Given the description of an element on the screen output the (x, y) to click on. 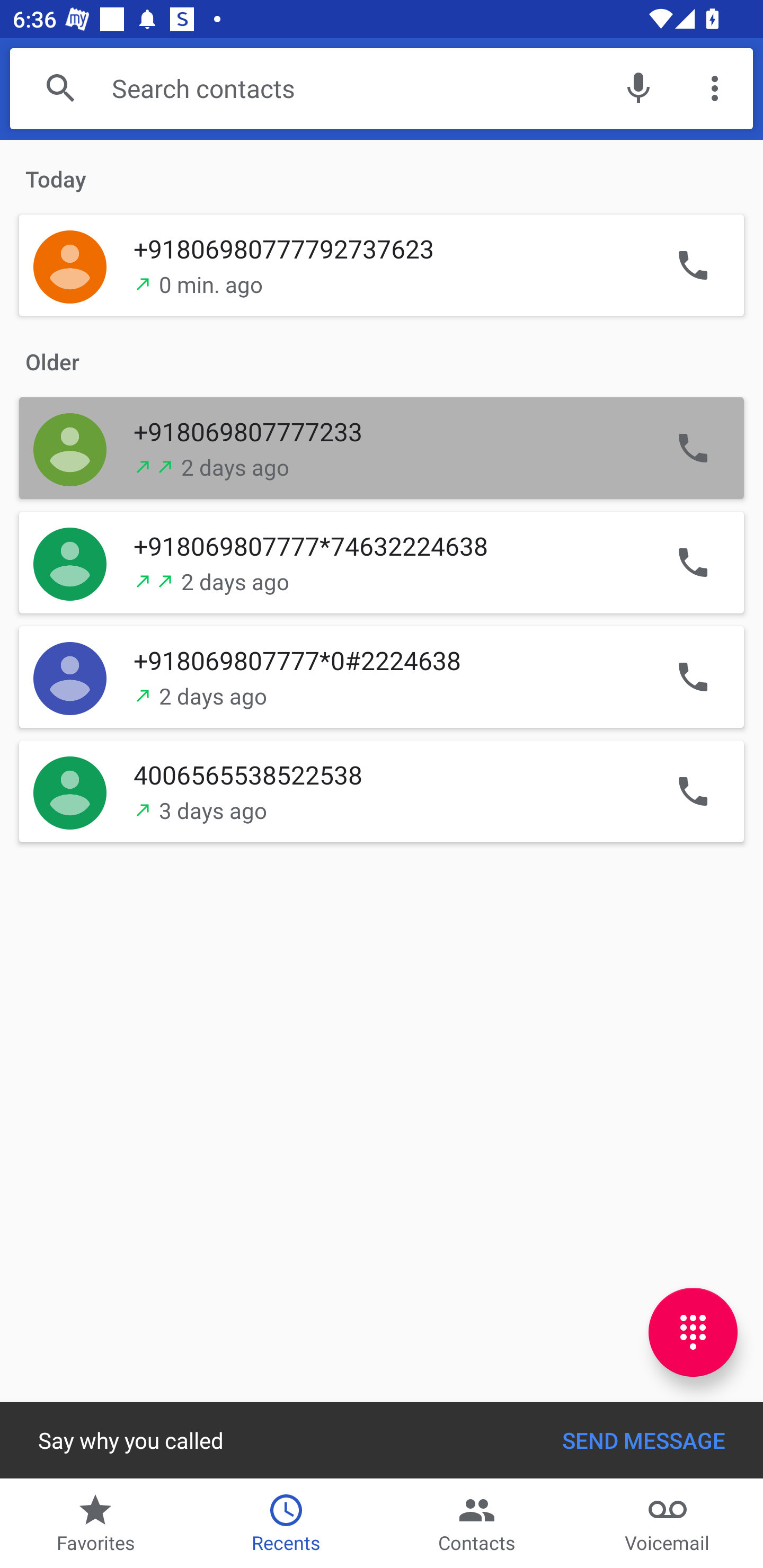
Search contacts Start voice search More options (381, 88)
Start voice search (638, 88)
More options (714, 88)
Quick contact for +91806980777792737623 (70, 265)
Call +91806980777792737623 (692, 265)
Quick contact for +918069807777233 (70, 447)
Call +918069807777233 (692, 447)
Quick contact for +918069807777*74632224638 (70, 561)
Call +918069807777*74632224638 (692, 561)
Quick contact for +918069807777*0#2224638 (70, 676)
Call +918069807777*0#2224638 (692, 676)
Quick contact for 4006565538522538 (70, 790)
Call 4006565538522538 (692, 790)
key pad (692, 1331)
Say why you called SEND MESSAGE (381, 1439)
SEND MESSAGE (642, 1439)
Favorites (95, 1523)
Recents (285, 1523)
Contacts (476, 1523)
Voicemail (667, 1523)
